Given the description of an element on the screen output the (x, y) to click on. 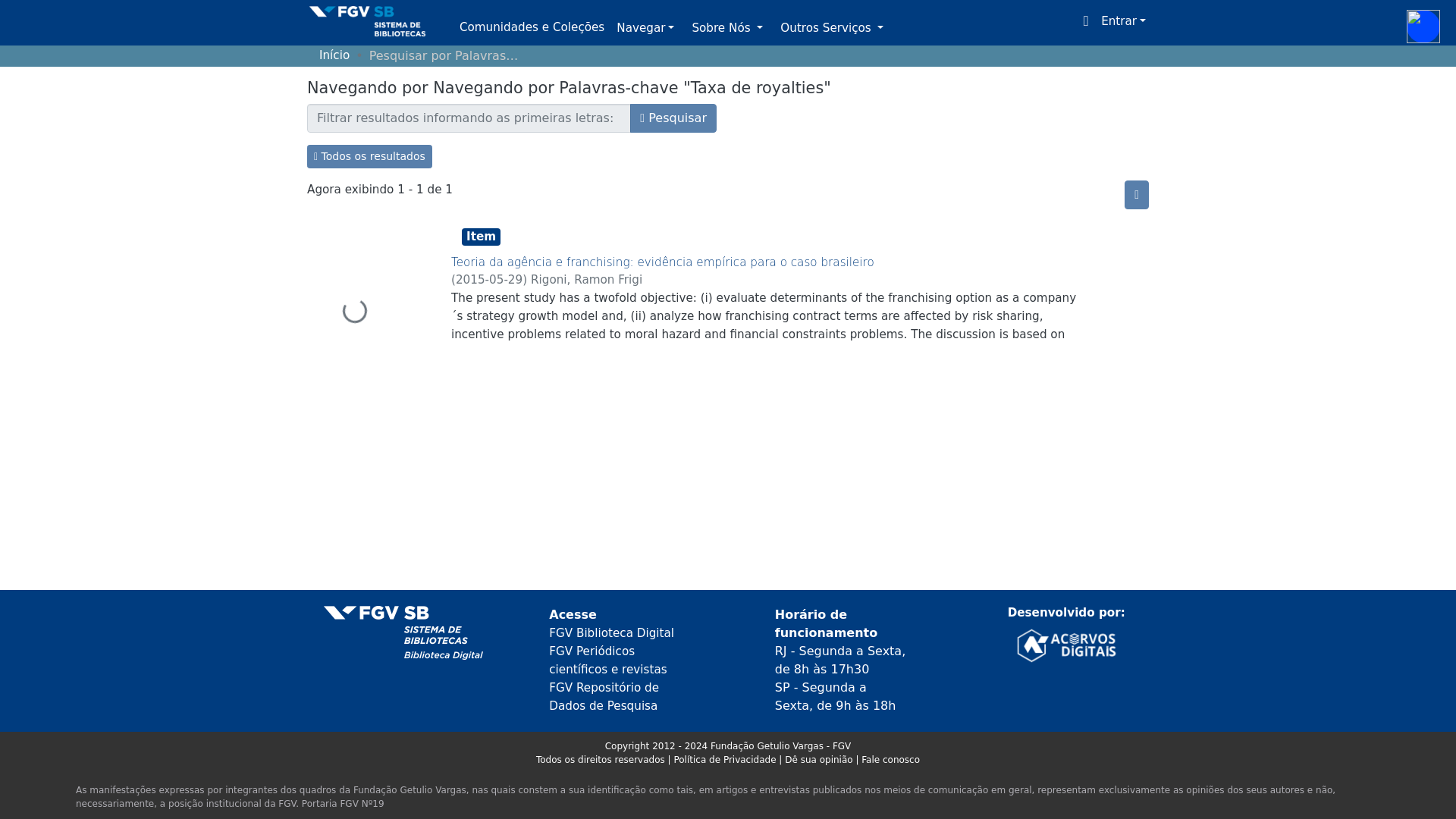
Pesquisar (673, 118)
Navegar (644, 28)
Accessibility Menu (1422, 26)
Todos os resultados (369, 156)
Entrar (1122, 20)
Selecionar um idioma (1085, 21)
